Given the description of an element on the screen output the (x, y) to click on. 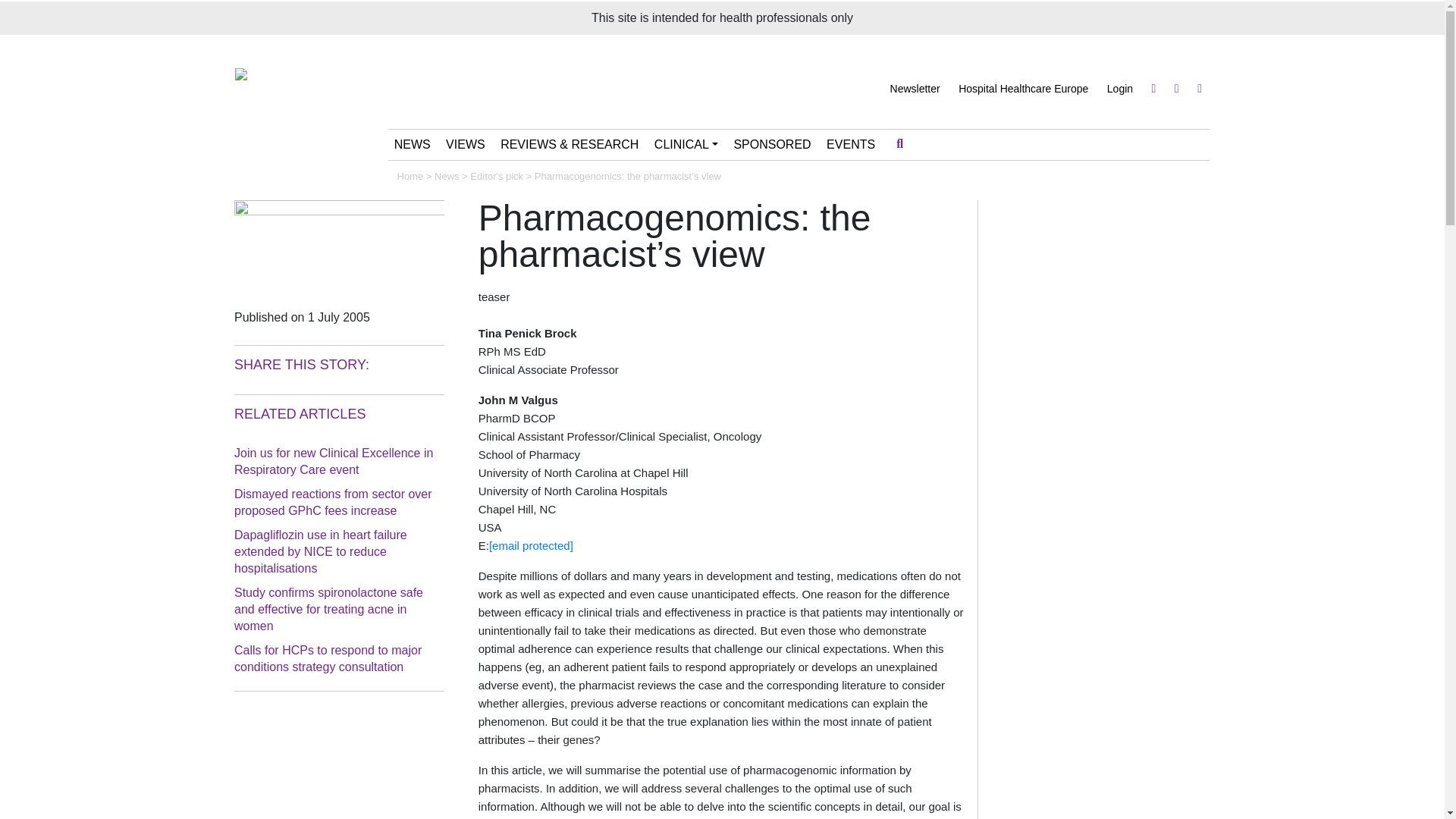
VIEWS (465, 144)
CLINICAL (685, 144)
Hospital Healthcare Europe (1022, 88)
Login (1119, 88)
SPONSORED (771, 144)
Newsletter (914, 88)
NEWS (412, 144)
